Given the description of an element on the screen output the (x, y) to click on. 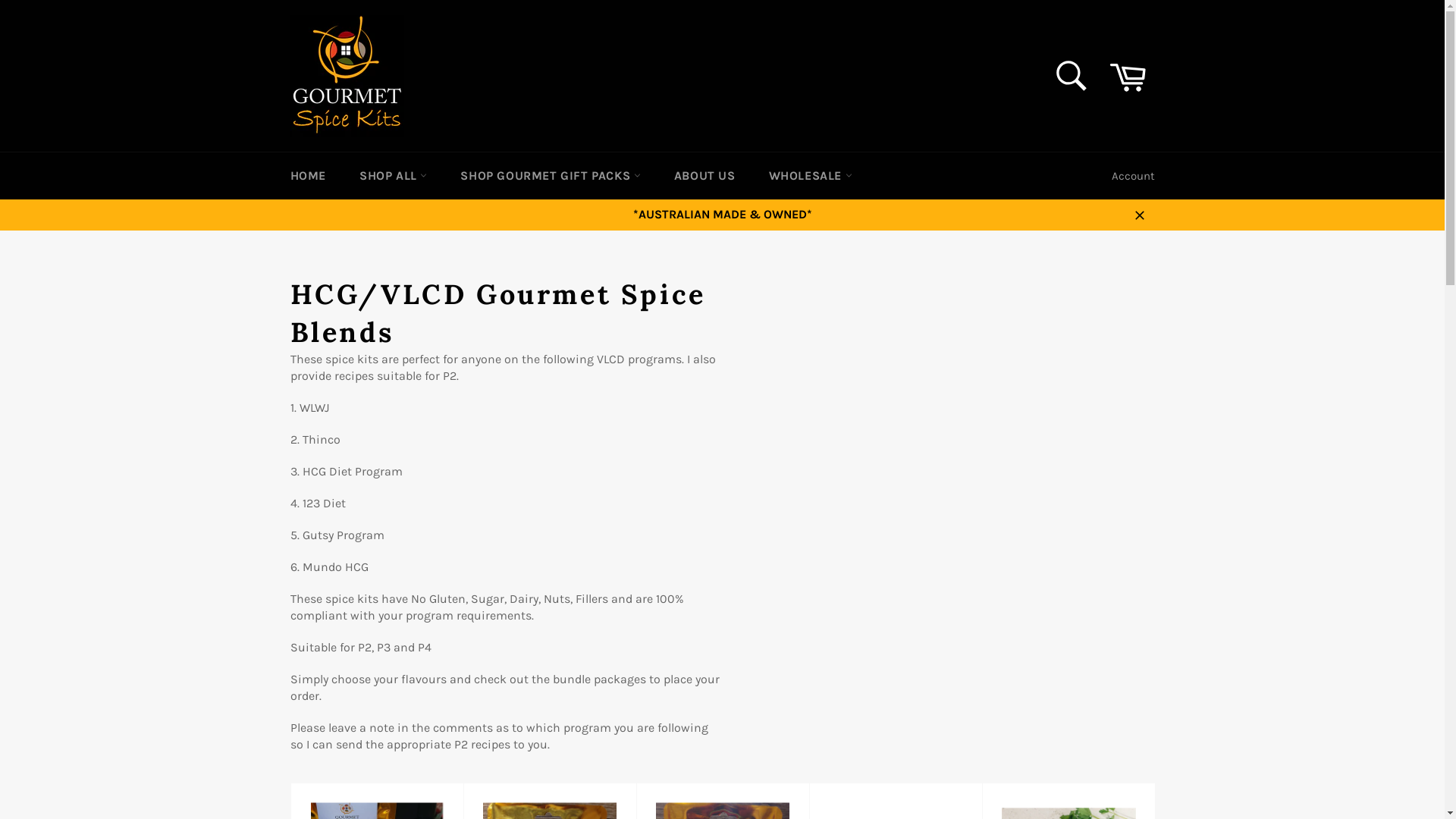
Account Element type: text (1133, 176)
ABOUT US Element type: text (704, 175)
Search Element type: text (1071, 75)
*AUSTRALIAN MADE & OWNED* Element type: text (721, 214)
Close Element type: text (1138, 214)
SHOP GOURMET GIFT PACKS Element type: text (550, 175)
SHOP ALL Element type: text (393, 175)
WHOLESALE Element type: text (810, 175)
HOME Element type: text (307, 175)
Cart Element type: text (1127, 75)
